Given the description of an element on the screen output the (x, y) to click on. 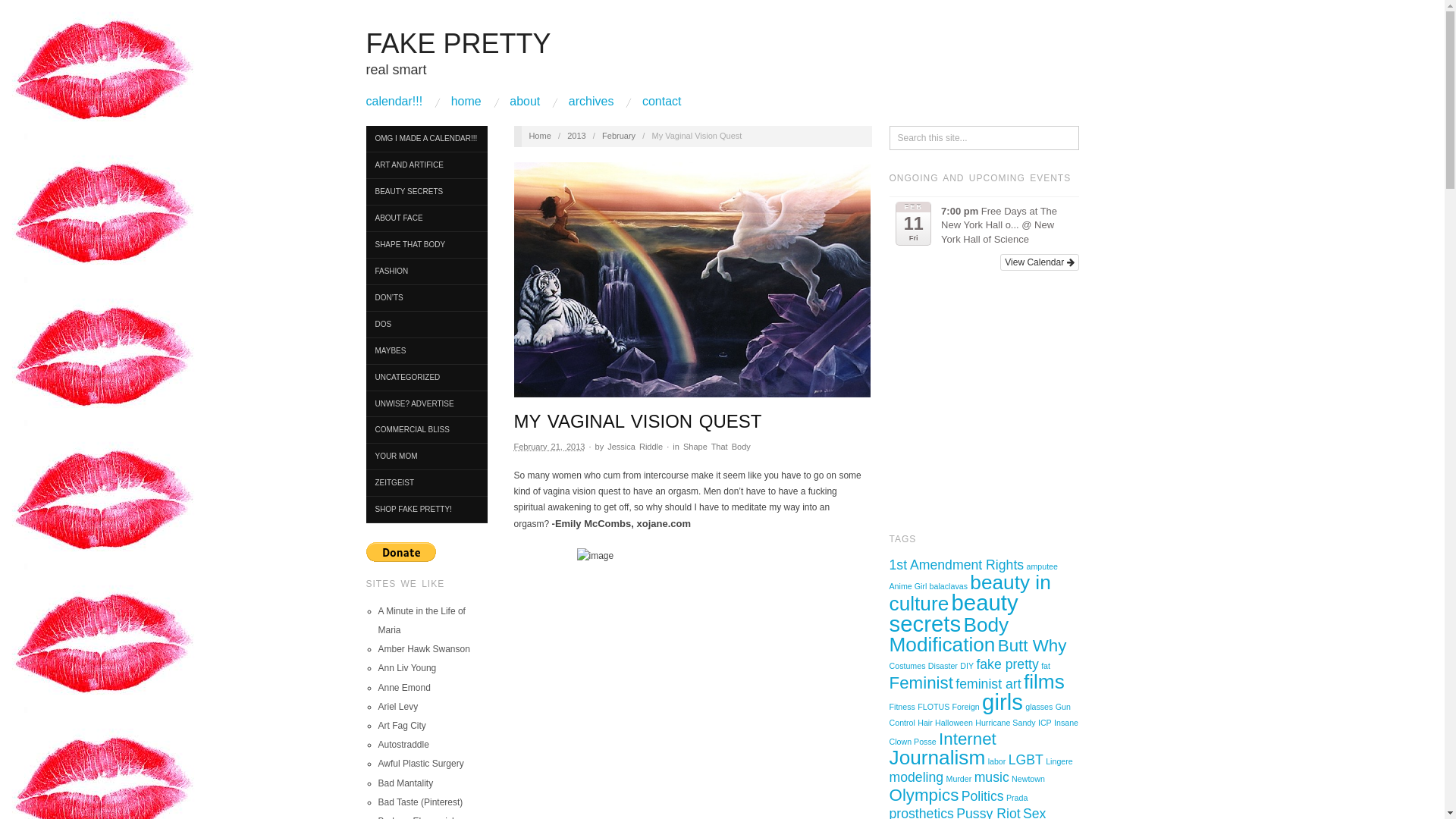
Fake Pretty (457, 42)
Art Fag City (401, 725)
YOUR MOM (425, 456)
SHAPE THAT BODY (425, 244)
MAYBES (425, 351)
1 topic (1042, 565)
Autostraddle (402, 744)
4 topics (970, 592)
UNCATEGORIZED (425, 377)
2013 (576, 135)
Amber Hawk Swanson (422, 648)
archives (591, 101)
ZEITGEIST (425, 483)
calendar!!! (393, 101)
Search this site... (984, 137)
